Given the description of an element on the screen output the (x, y) to click on. 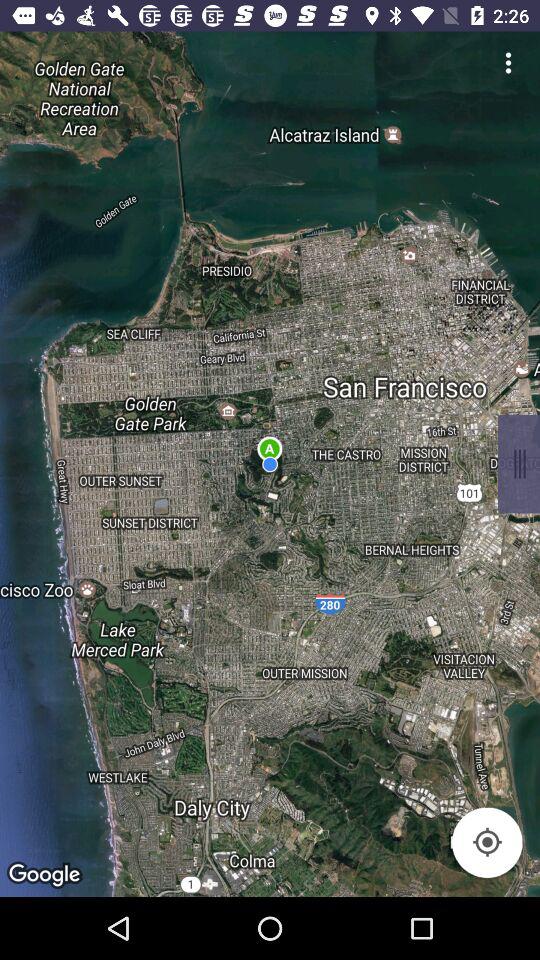
open options (508, 62)
